Given the description of an element on the screen output the (x, y) to click on. 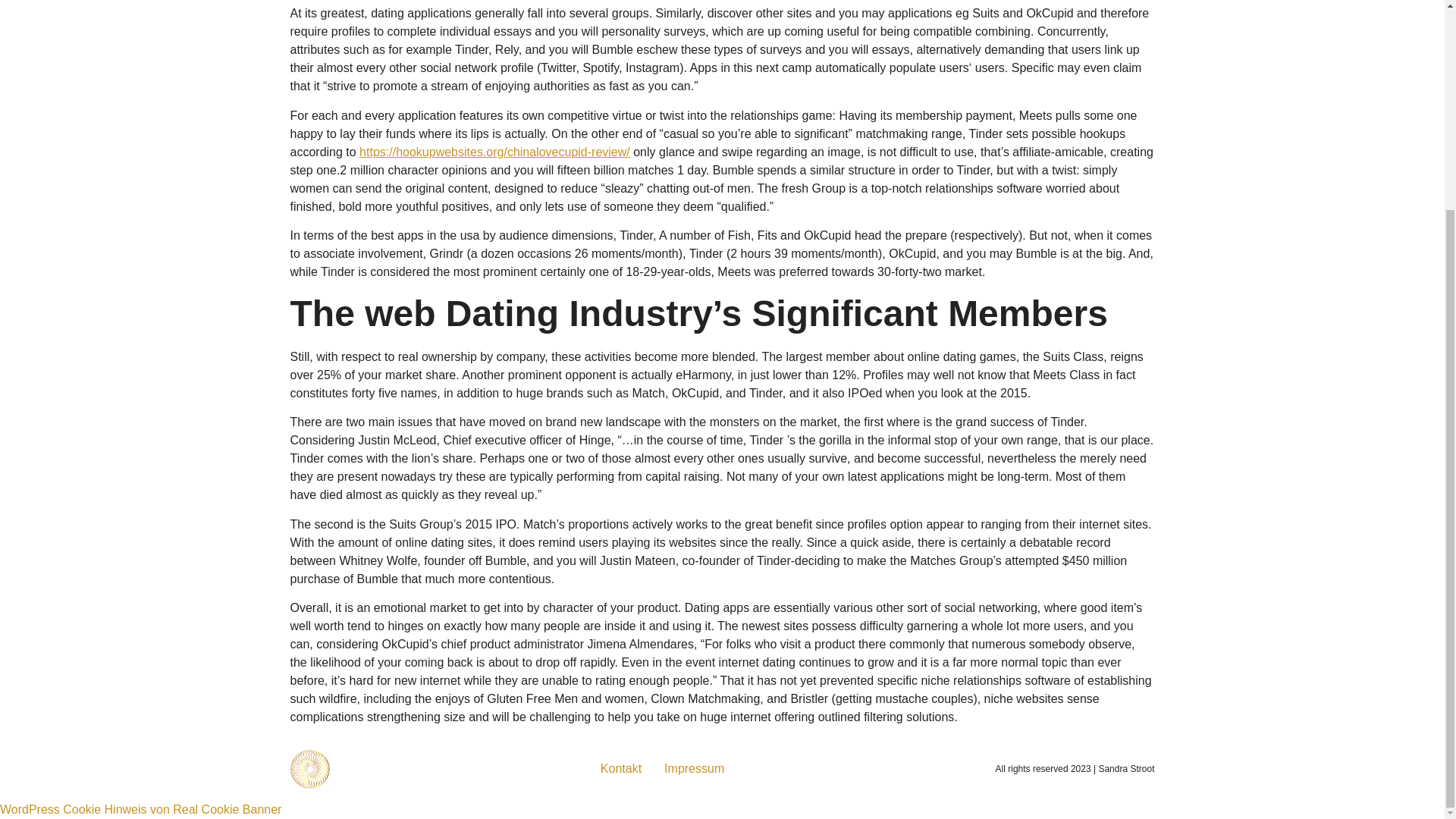
WordPress Cookie Hinweis von Real Cookie Banner (140, 809)
Impressum (693, 768)
Kontakt (620, 768)
